Given the description of an element on the screen output the (x, y) to click on. 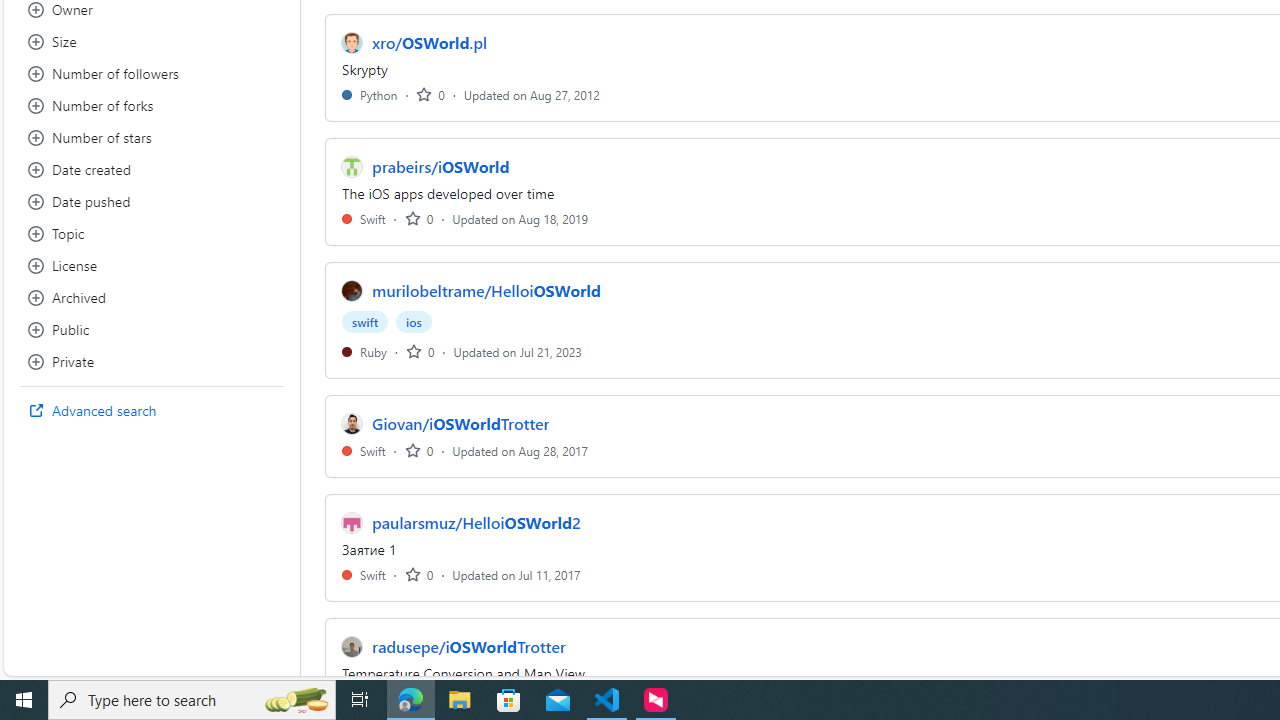
prabeirs/iOSWorld (440, 166)
Advanced search (152, 410)
Ruby (363, 351)
Giovan/iOSWorldTrotter (461, 423)
Advanced search (152, 410)
Updated on Jul 11, 2017 (516, 574)
ios (413, 321)
